Given the description of an element on the screen output the (x, y) to click on. 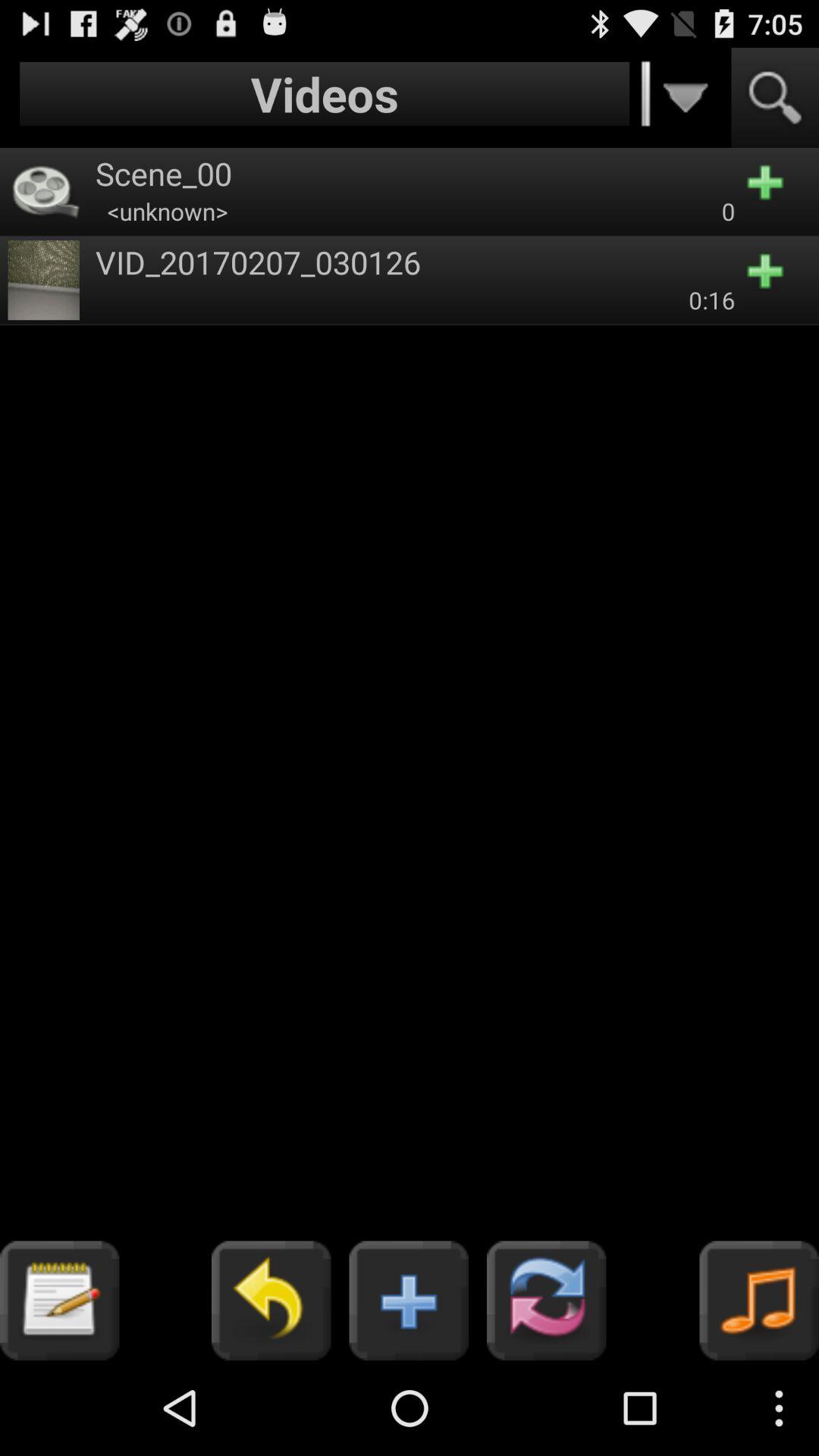
select the music icon on the bottom right corner of the web page (759, 1300)
click on symbol beside scene00 (43, 191)
click on  symbol beside 016 (774, 280)
click on the second image from top (43, 280)
click the image left to vid20170207030126 (43, 280)
click on the button which is next to the  button (546, 1300)
click on the button which is left side of the refresh button (408, 1300)
